Given the description of an element on the screen output the (x, y) to click on. 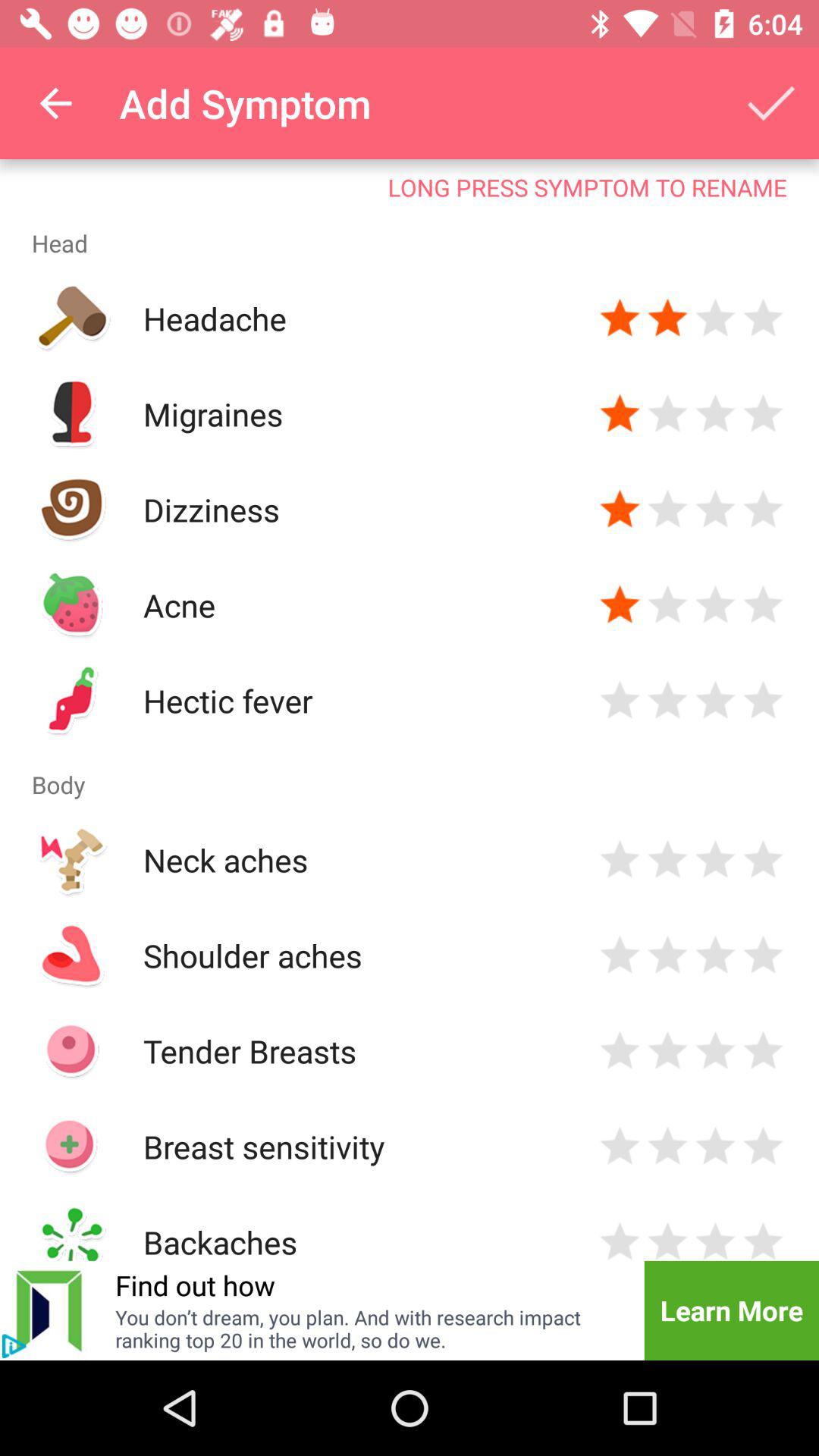
press to rate severity of symptom (667, 318)
